Given the description of an element on the screen output the (x, y) to click on. 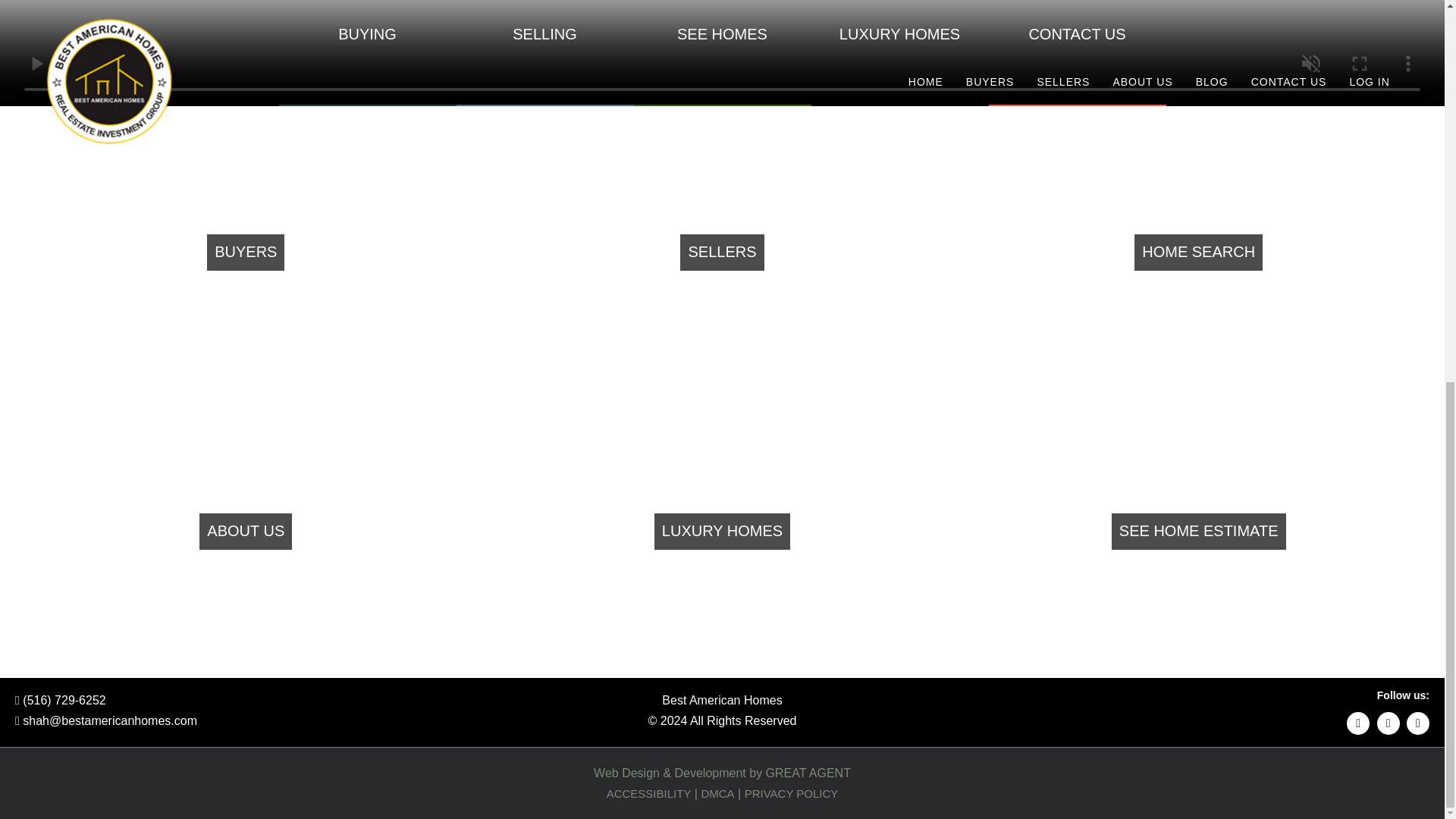
HOME SEARCH (1198, 251)
SELLERS (722, 251)
SEE HOMES (721, 53)
Linkedin (1358, 722)
LUXURY HOMES (899, 53)
Facebook (1388, 722)
LUXURY HOMES (722, 531)
SEE HOME ESTIMATE (1198, 531)
BUYING (368, 53)
SELLING (545, 53)
